Given the description of an element on the screen output the (x, y) to click on. 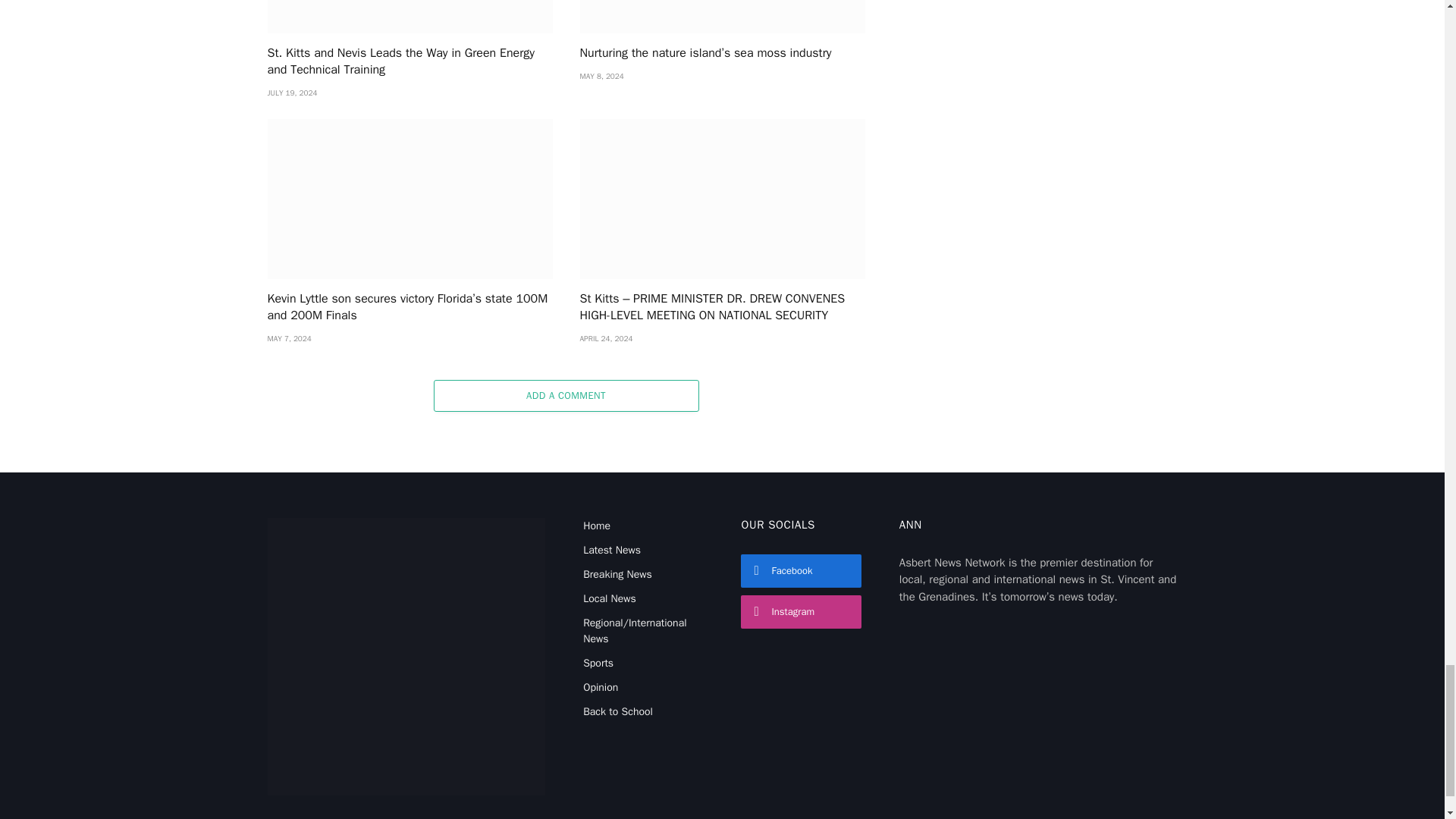
Local News (609, 598)
Latest News (611, 549)
Breaking News (617, 574)
ADD A COMMENT (565, 395)
Home (596, 525)
